Given the description of an element on the screen output the (x, y) to click on. 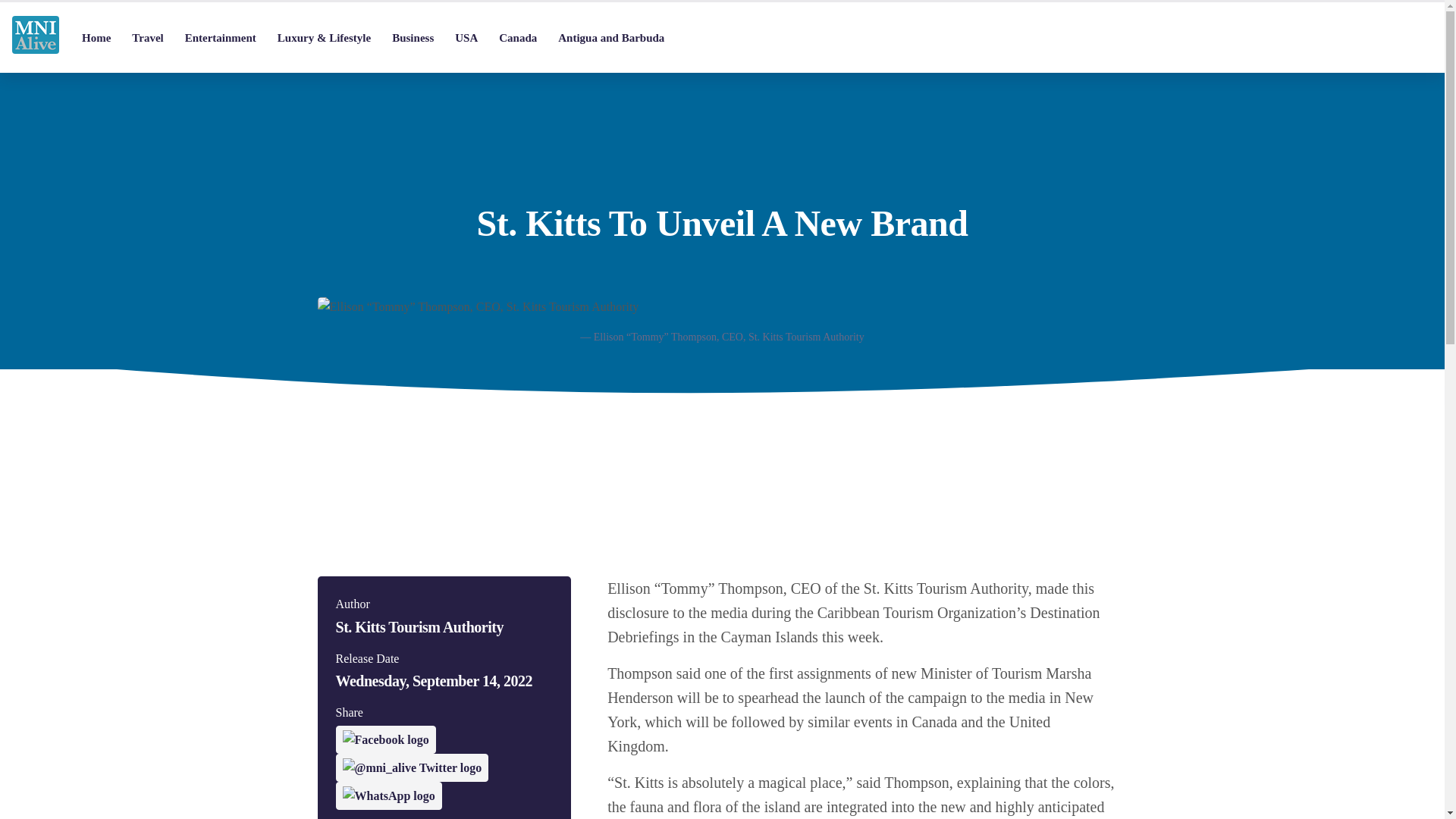
Share on WhatsApp (387, 795)
USA (465, 37)
Business (412, 37)
Canada (517, 37)
Home (95, 37)
Antigua and Barbuda (611, 37)
Travel (146, 37)
Entertainment (220, 37)
Share on Facebook (384, 739)
Advertisement (721, 445)
Share on Twitter (410, 767)
